Given the description of an element on the screen output the (x, y) to click on. 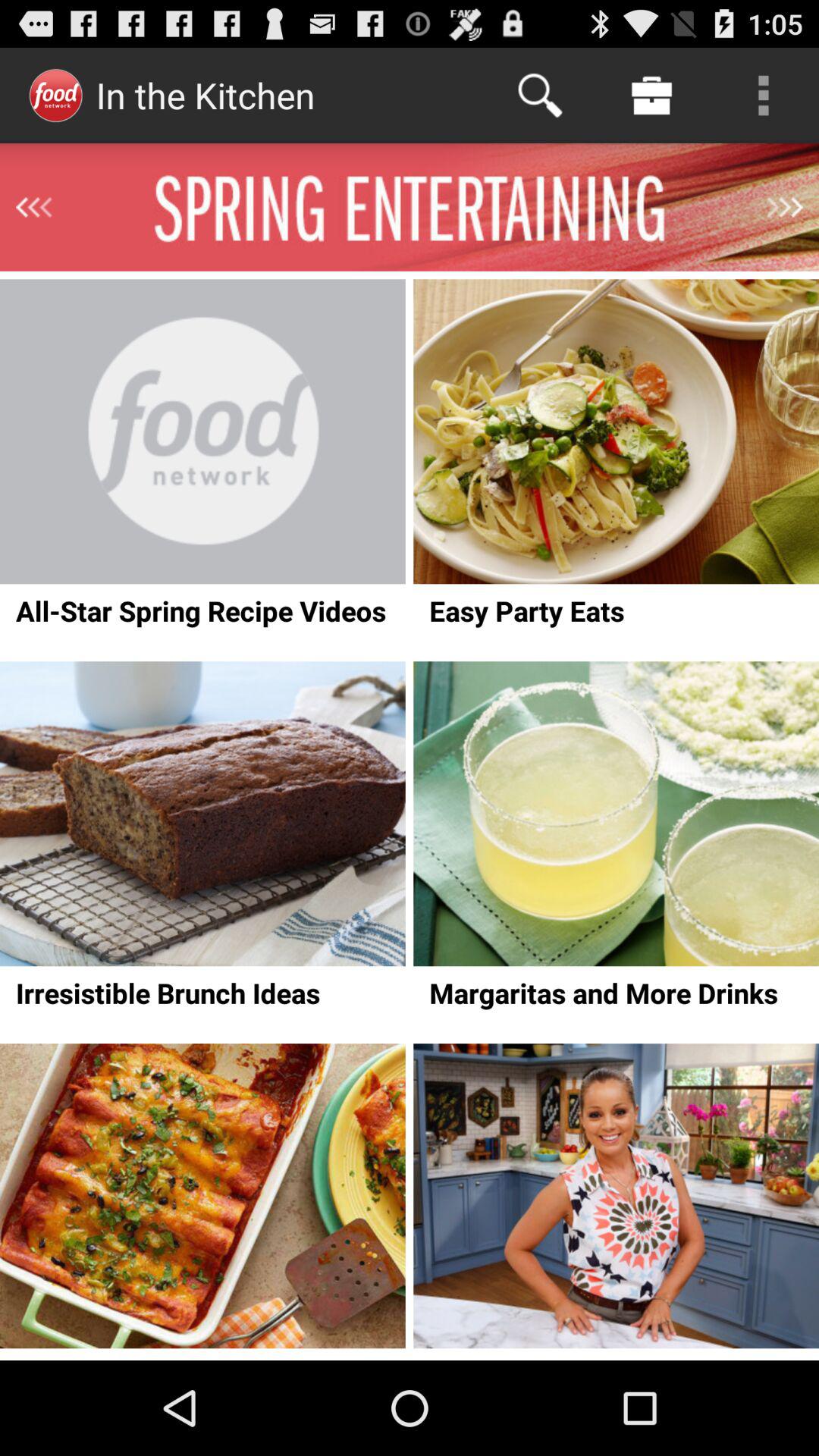
go back (33, 207)
